Given the description of an element on the screen output the (x, y) to click on. 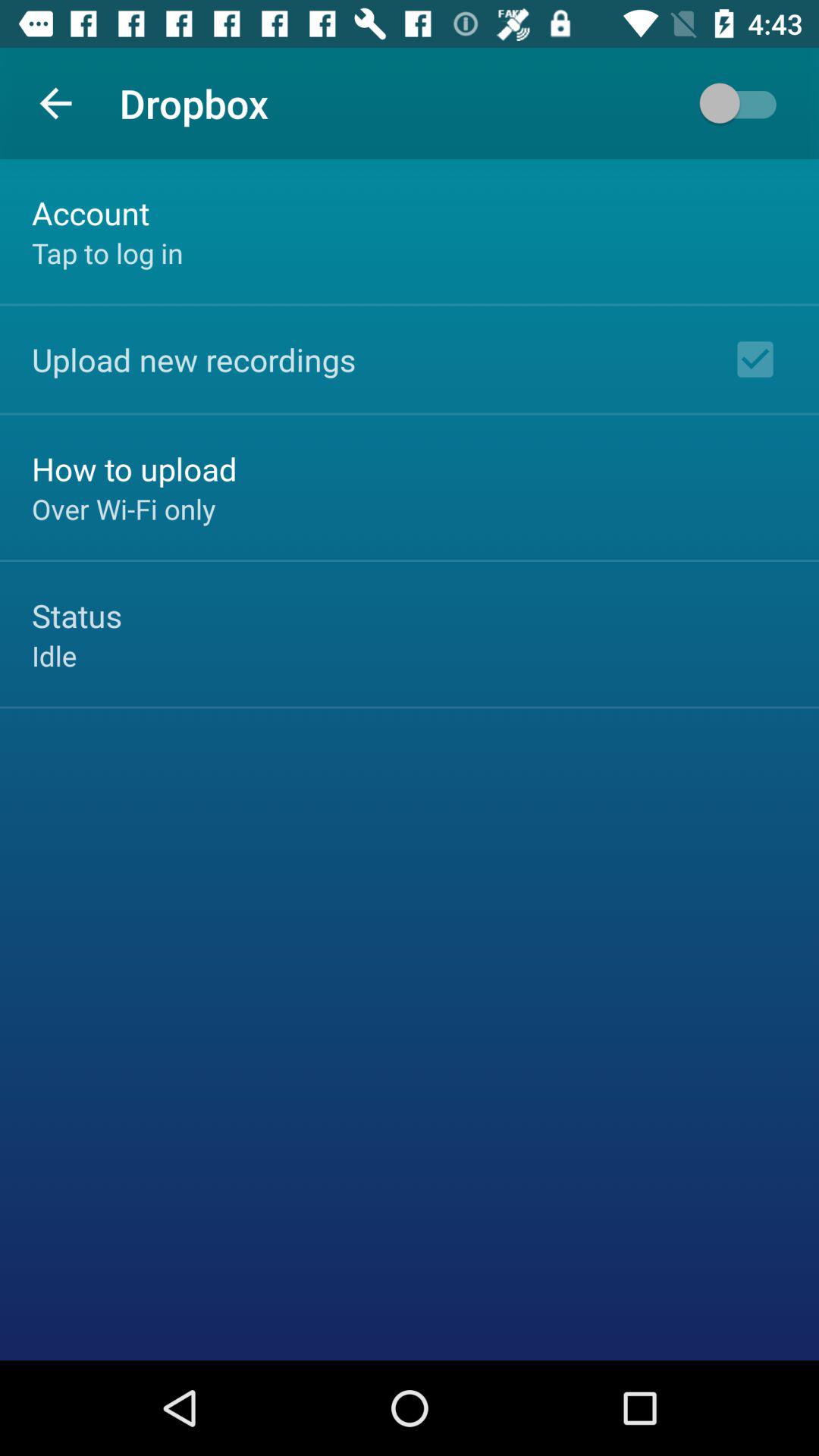
choose the icon above account (55, 103)
